Given the description of an element on the screen output the (x, y) to click on. 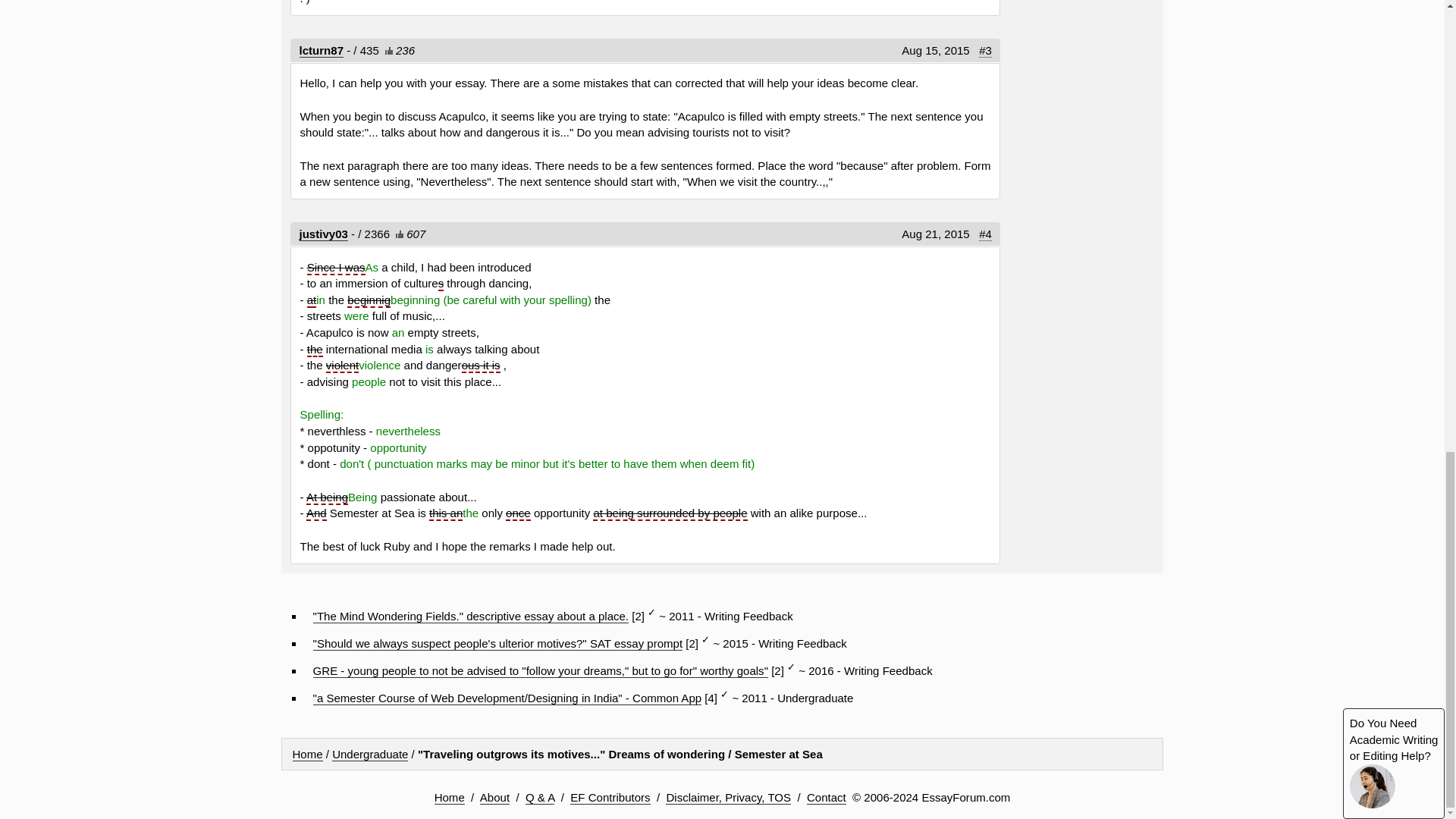
Likes (398, 234)
Home (448, 797)
justivy03 (323, 233)
Likes (387, 50)
lcturn87 (321, 50)
Disclaimer, Privacy, TOS (727, 797)
About (494, 797)
Author: Ivy Maye Favor (323, 233)
Home (307, 754)
Author: Lakia Turner (321, 50)
Undergraduate (369, 754)
EF Contributors (609, 797)
